Given the description of an element on the screen output the (x, y) to click on. 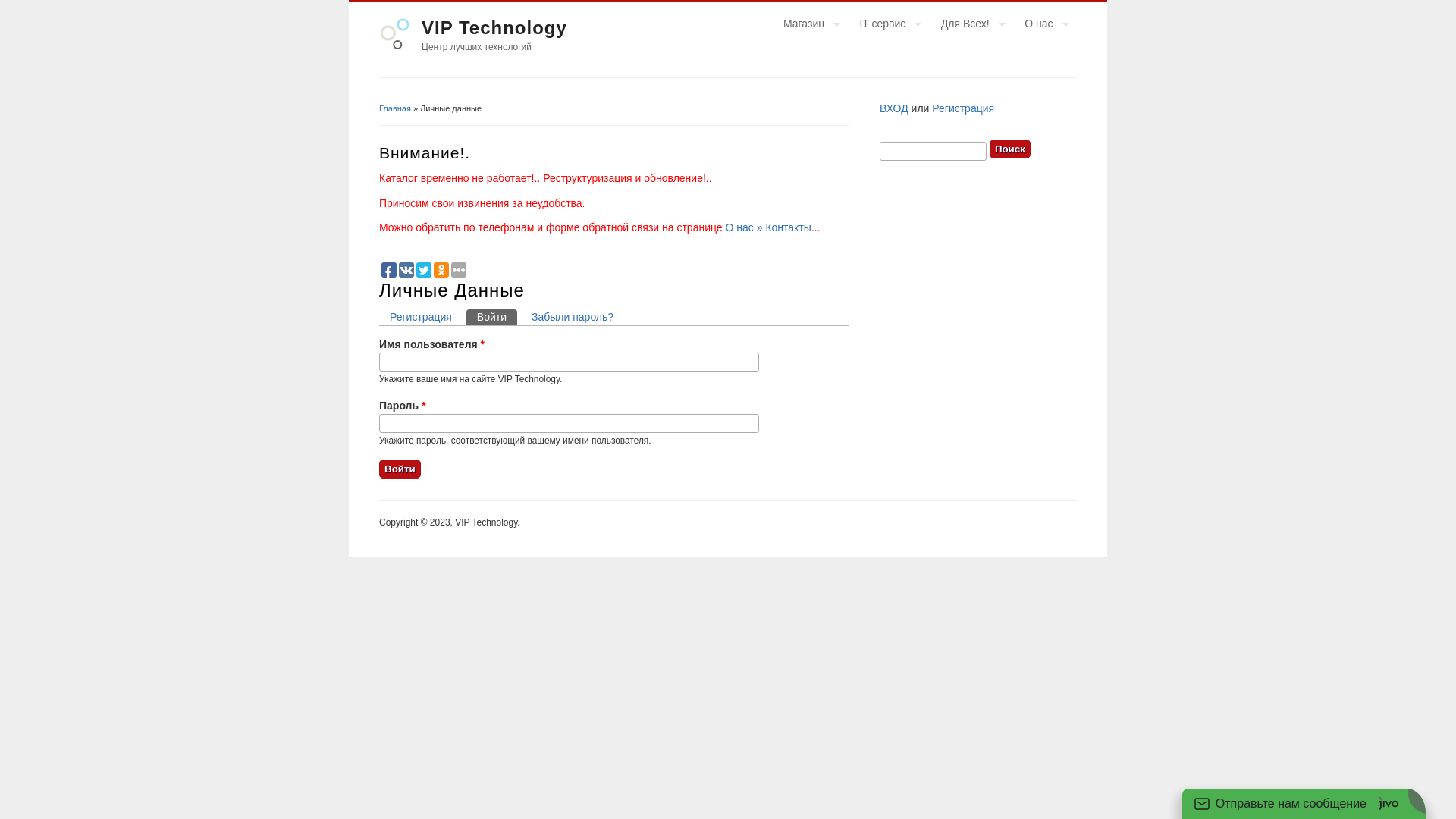
VIP Technology Element type: text (494, 27)
